Given the description of an element on the screen output the (x, y) to click on. 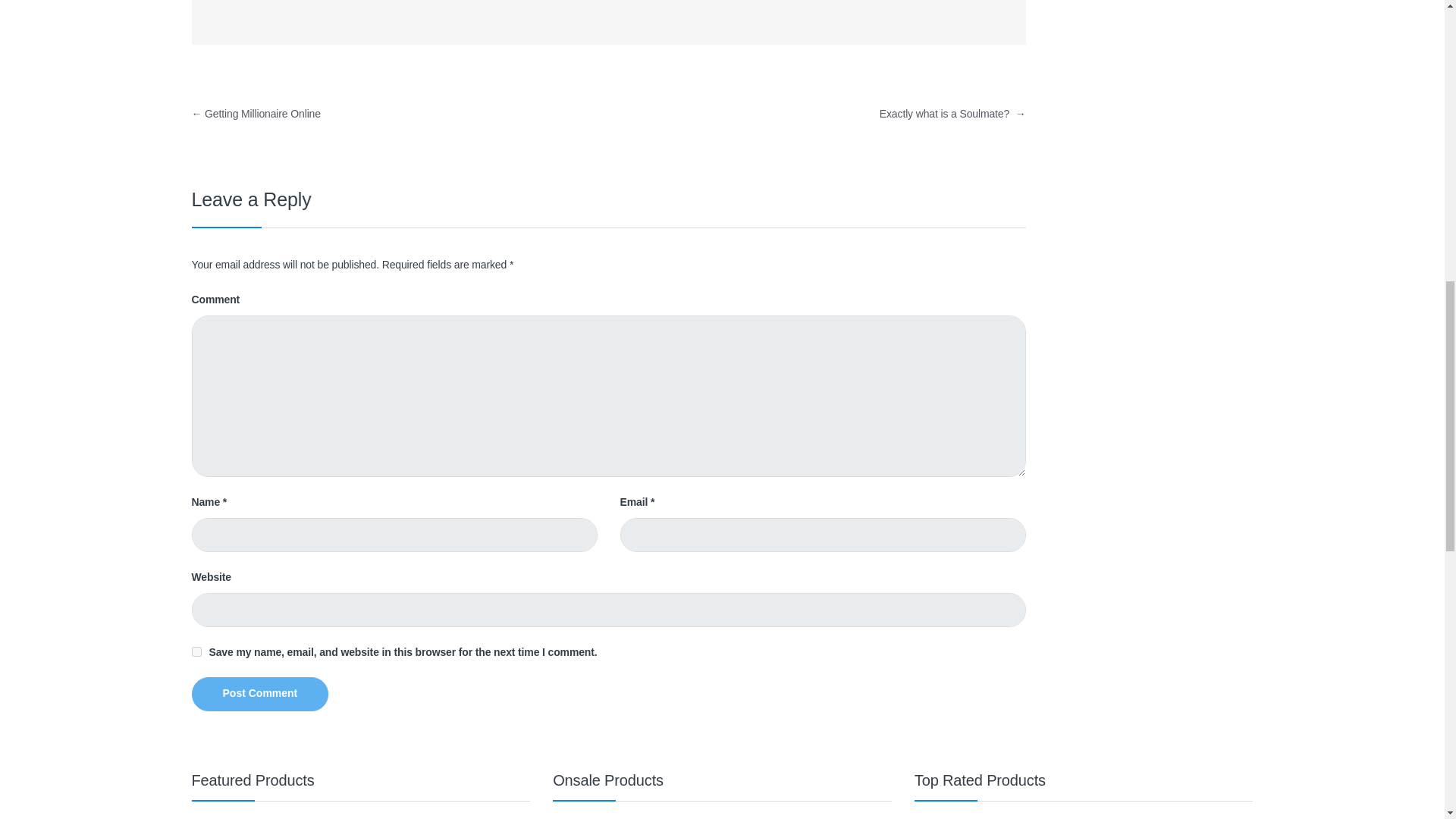
Post Comment (259, 694)
yes (195, 651)
